Given the description of an element on the screen output the (x, y) to click on. 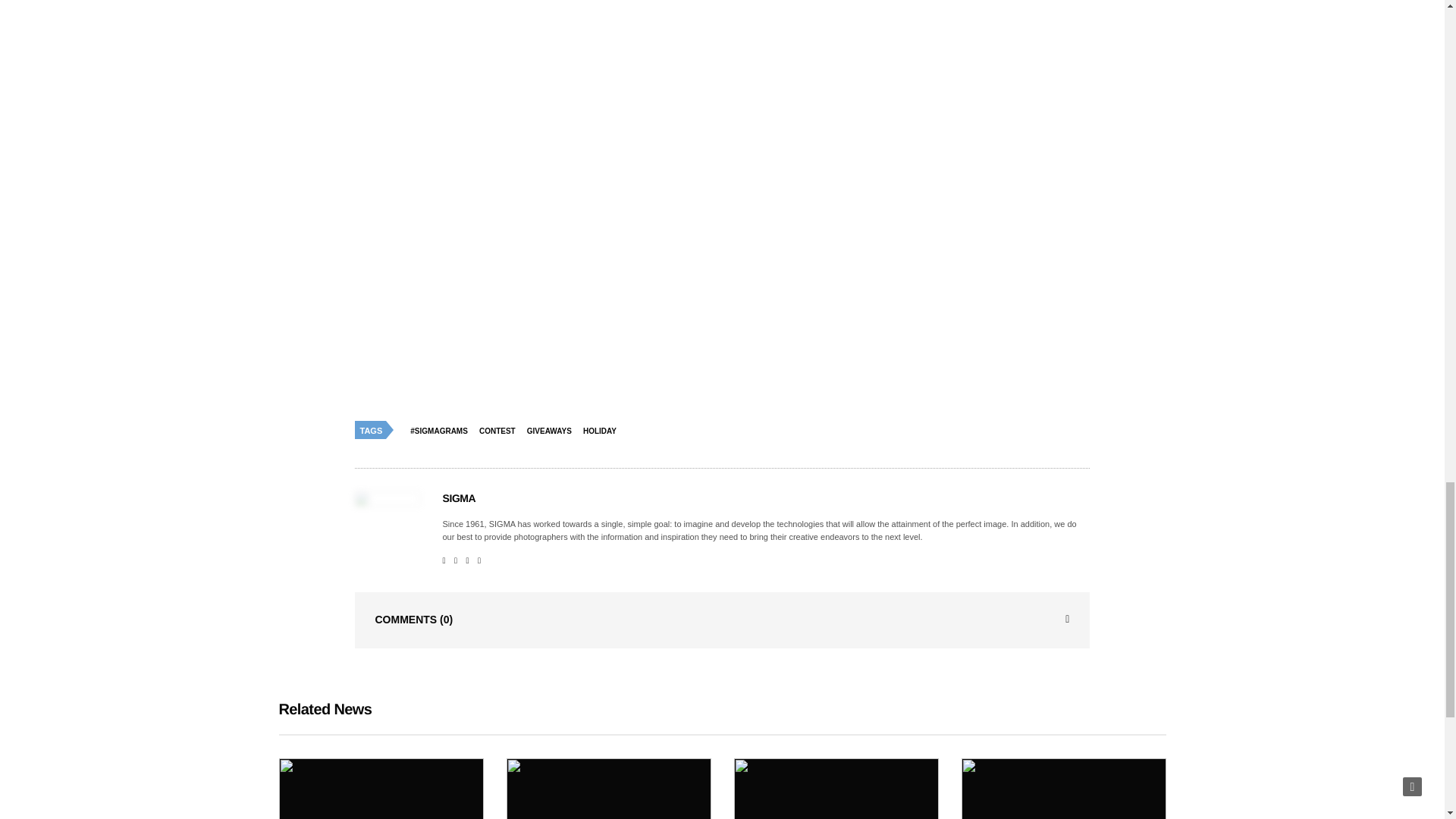
SIGMA (459, 498)
CONTEST (501, 430)
HOLIDAY (603, 430)
GIVEAWAYS (552, 430)
